Given the description of an element on the screen output the (x, y) to click on. 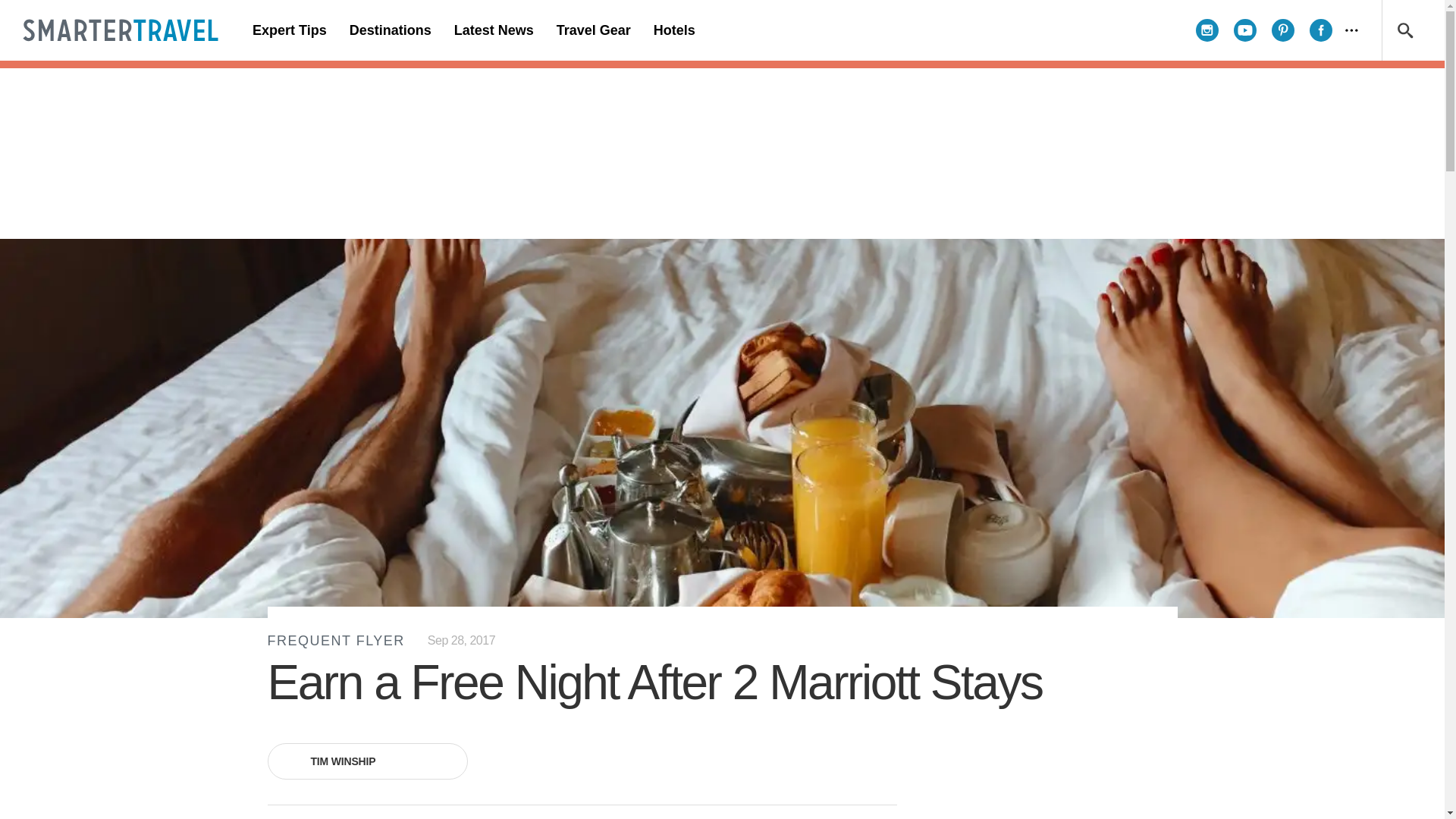
Destinations (389, 30)
Hotels (674, 30)
Expert Tips (289, 30)
Travel Gear (593, 30)
Latest News (493, 30)
